Given the description of an element on the screen output the (x, y) to click on. 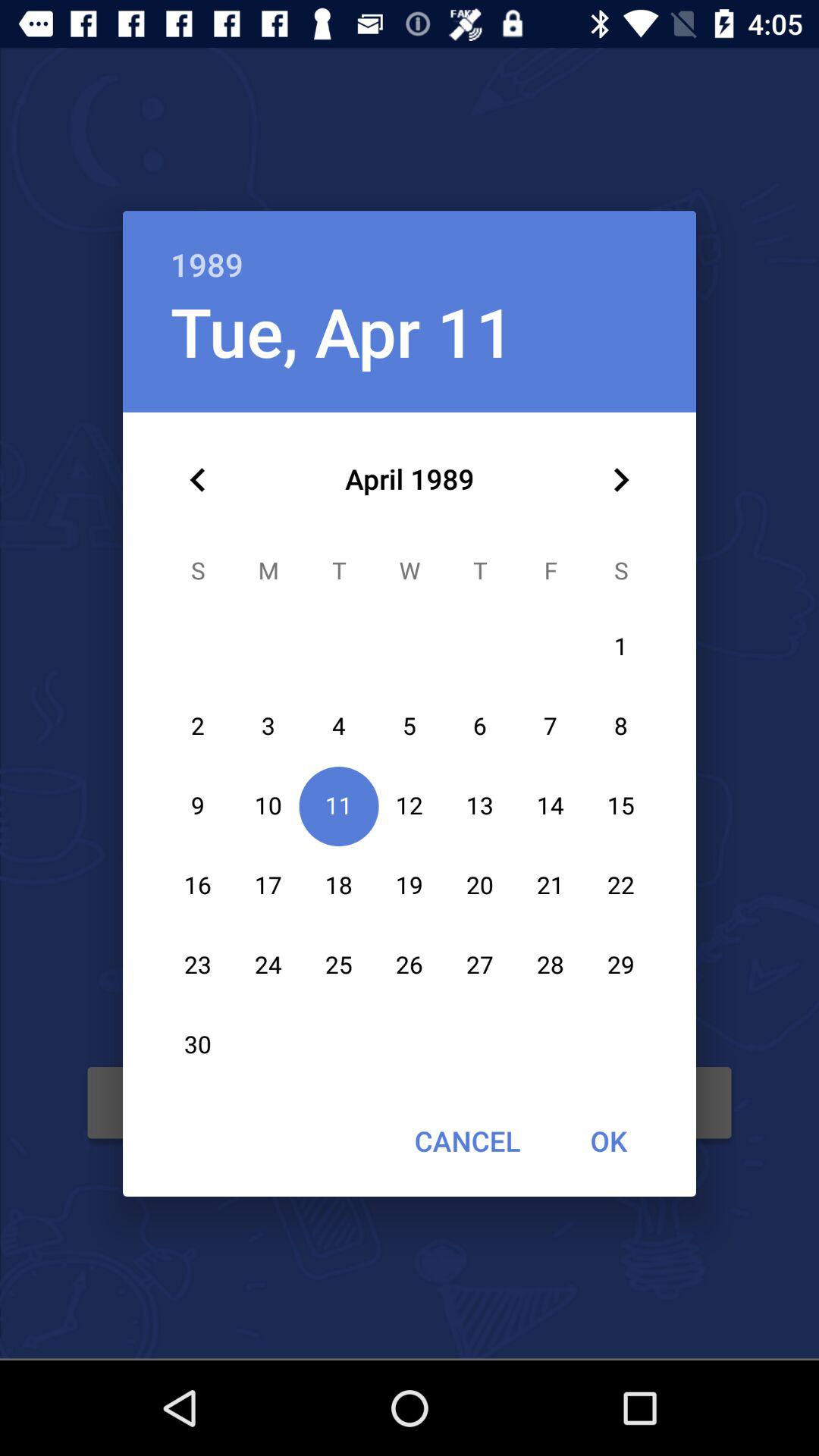
select the icon at the top right corner (620, 479)
